Given the description of an element on the screen output the (x, y) to click on. 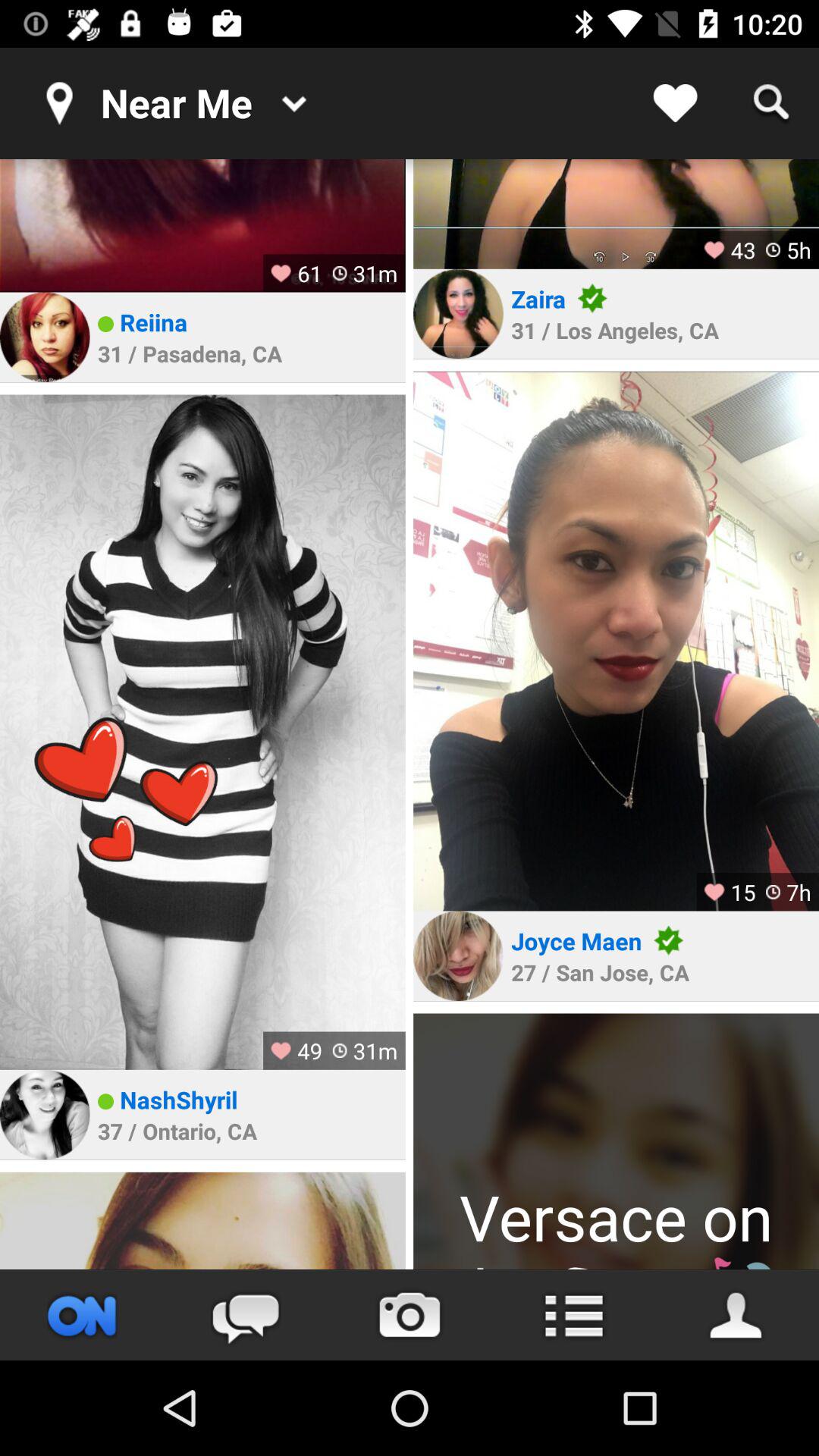
open profile (616, 1141)
